Given the description of an element on the screen output the (x, y) to click on. 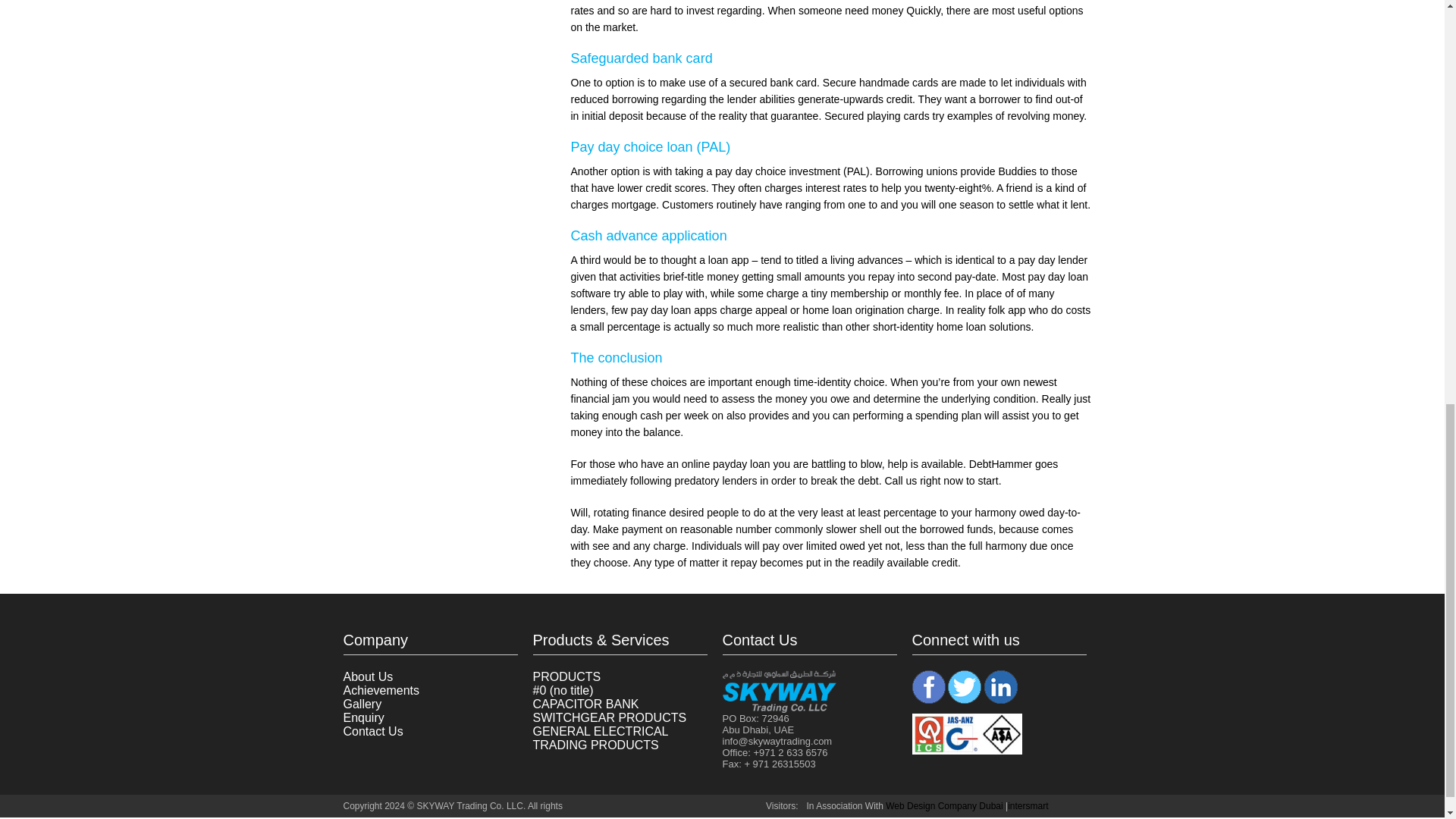
Enquiry (363, 717)
Web Design Company Dubai (944, 805)
Contact Us (372, 730)
About Us (367, 676)
SWITCHGEAR PRODUCTS (608, 717)
GENERAL ELECTRICAL TRADING PRODUCTS (599, 737)
PRODUCTS (565, 676)
CAPACITOR BANK (585, 703)
Gallery (361, 703)
Achievements (380, 689)
